Given the description of an element on the screen output the (x, y) to click on. 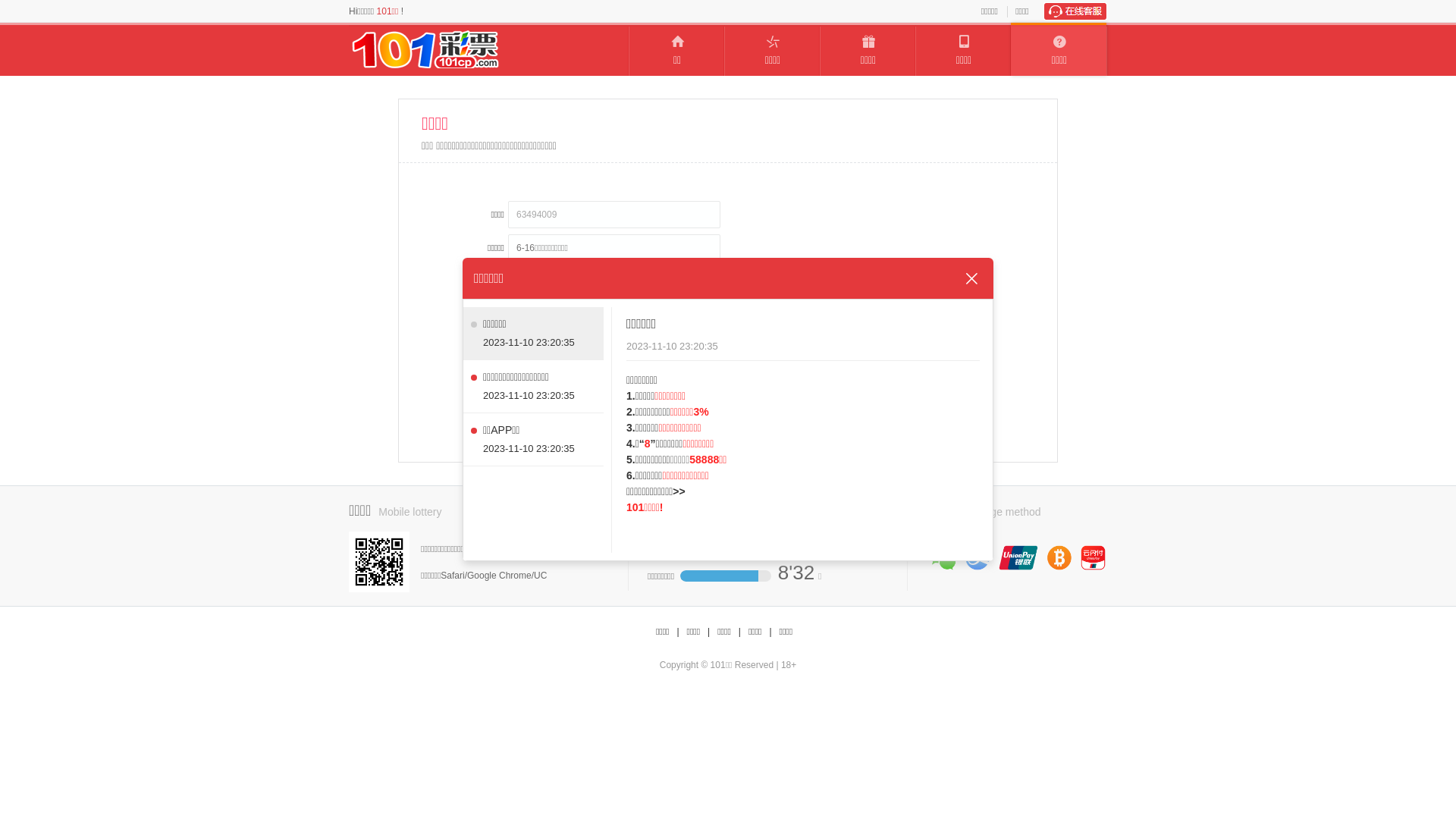
| Element type: text (739, 631)
| Element type: text (769, 631)
| Element type: text (677, 631)
| Element type: text (708, 631)
